Given the description of an element on the screen output the (x, y) to click on. 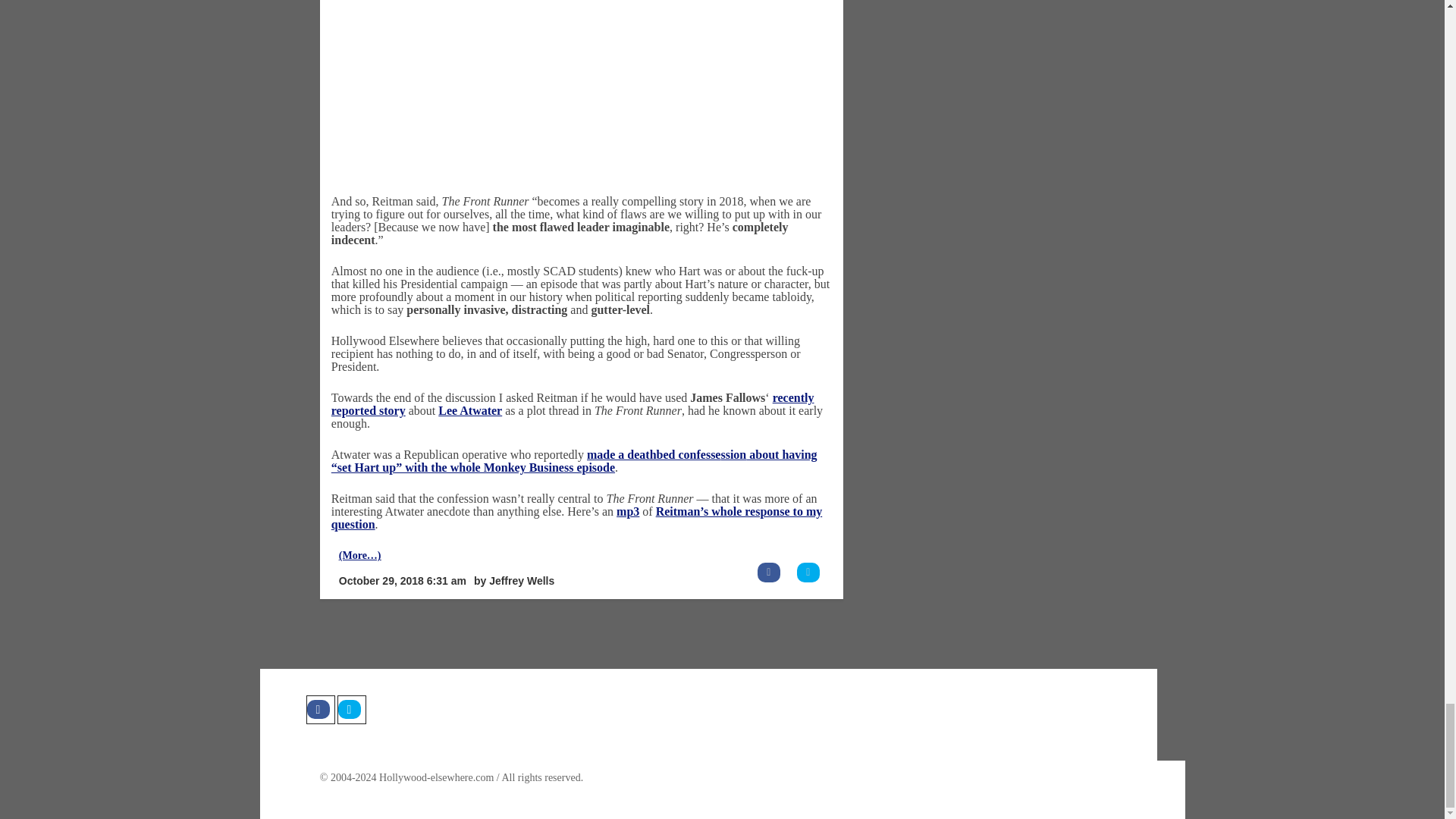
Facebook (319, 709)
Twitter (350, 709)
